Given the description of an element on the screen output the (x, y) to click on. 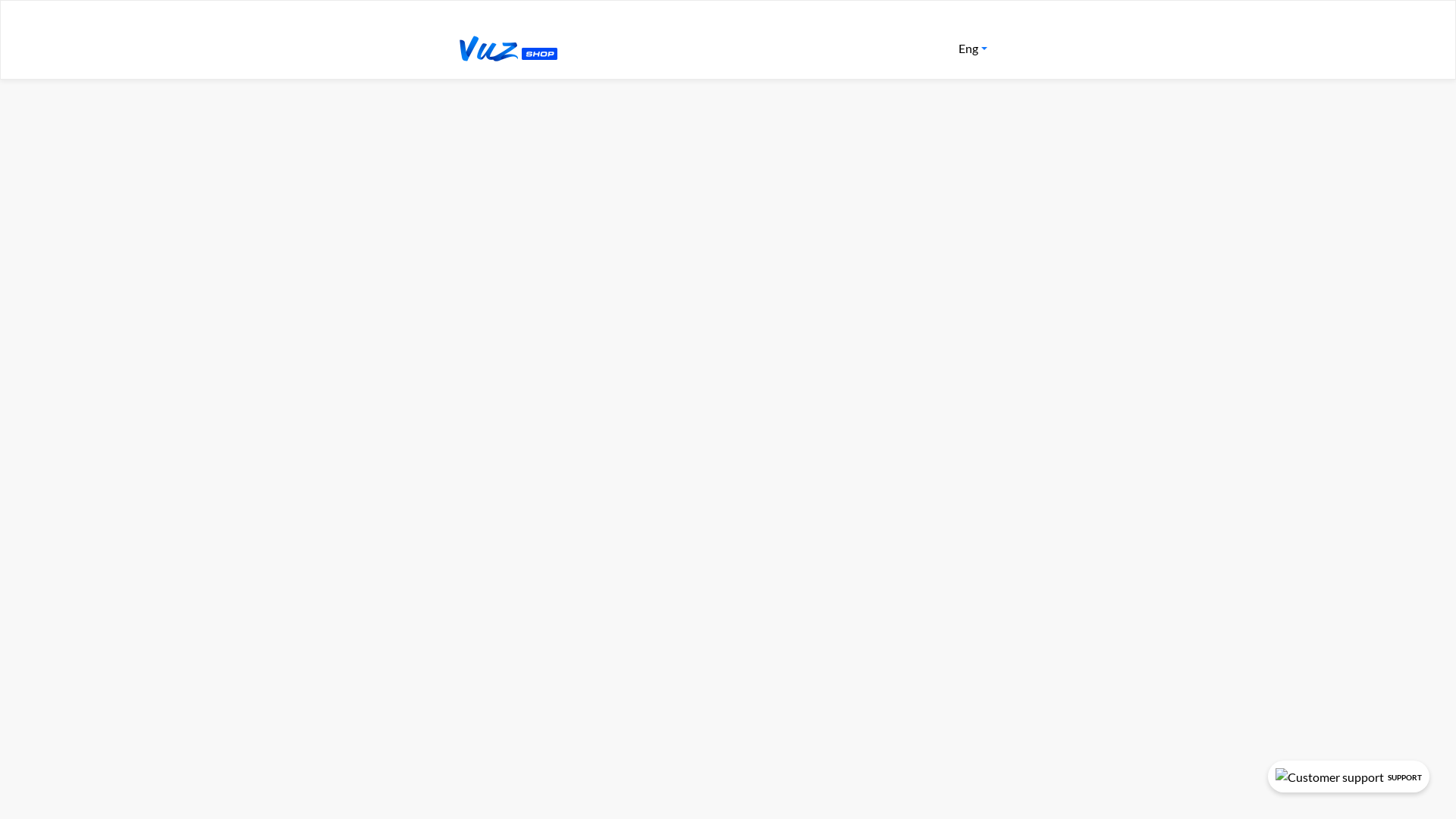
Eng Element type: text (972, 48)
